Given the description of an element on the screen output the (x, y) to click on. 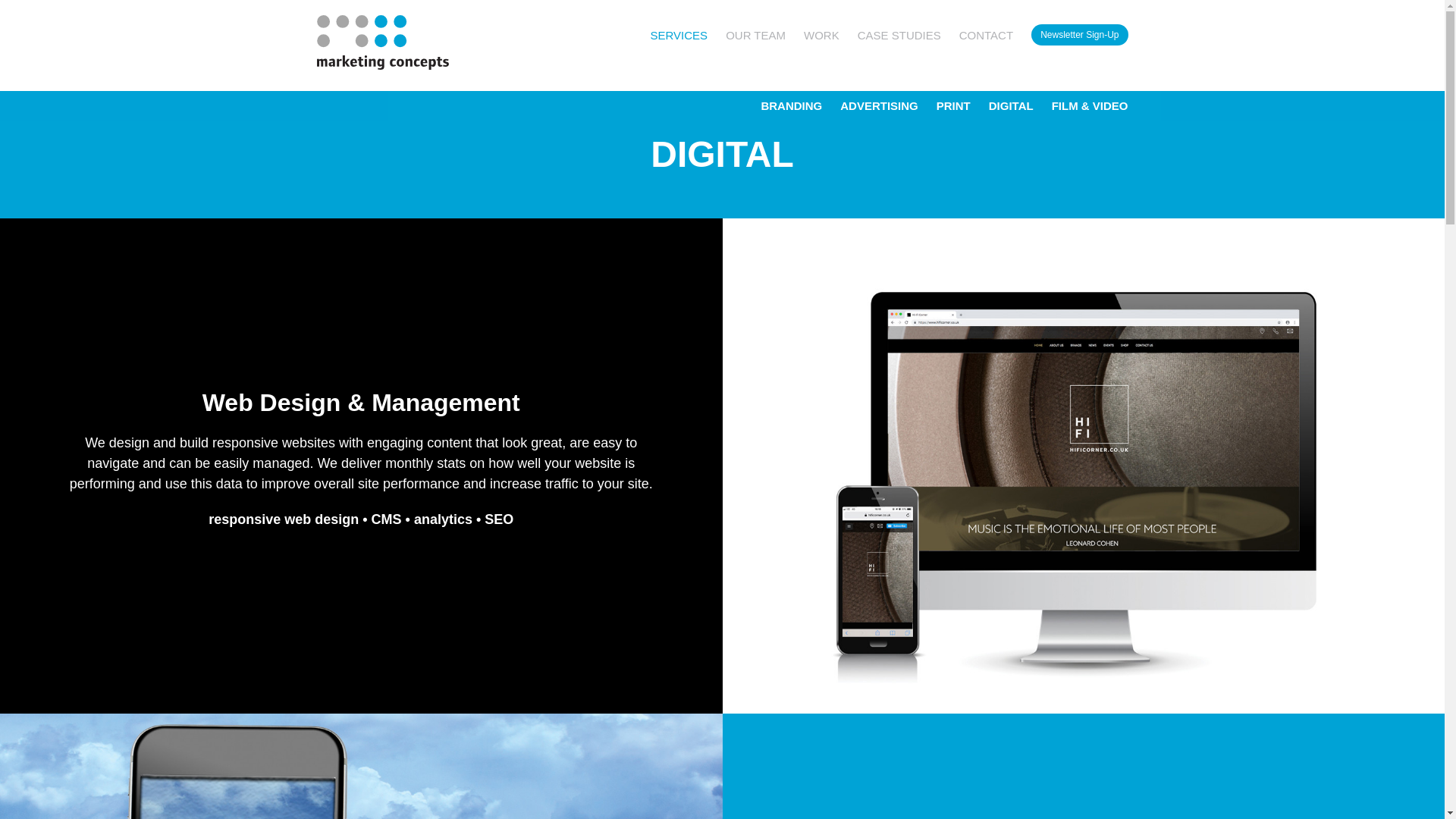
CASE STUDIES (898, 34)
CONTACT (986, 34)
Newsletter Sign-Up (1078, 34)
SERVICES (678, 34)
OUR TEAM (755, 34)
WORK (821, 34)
